Given the description of an element on the screen output the (x, y) to click on. 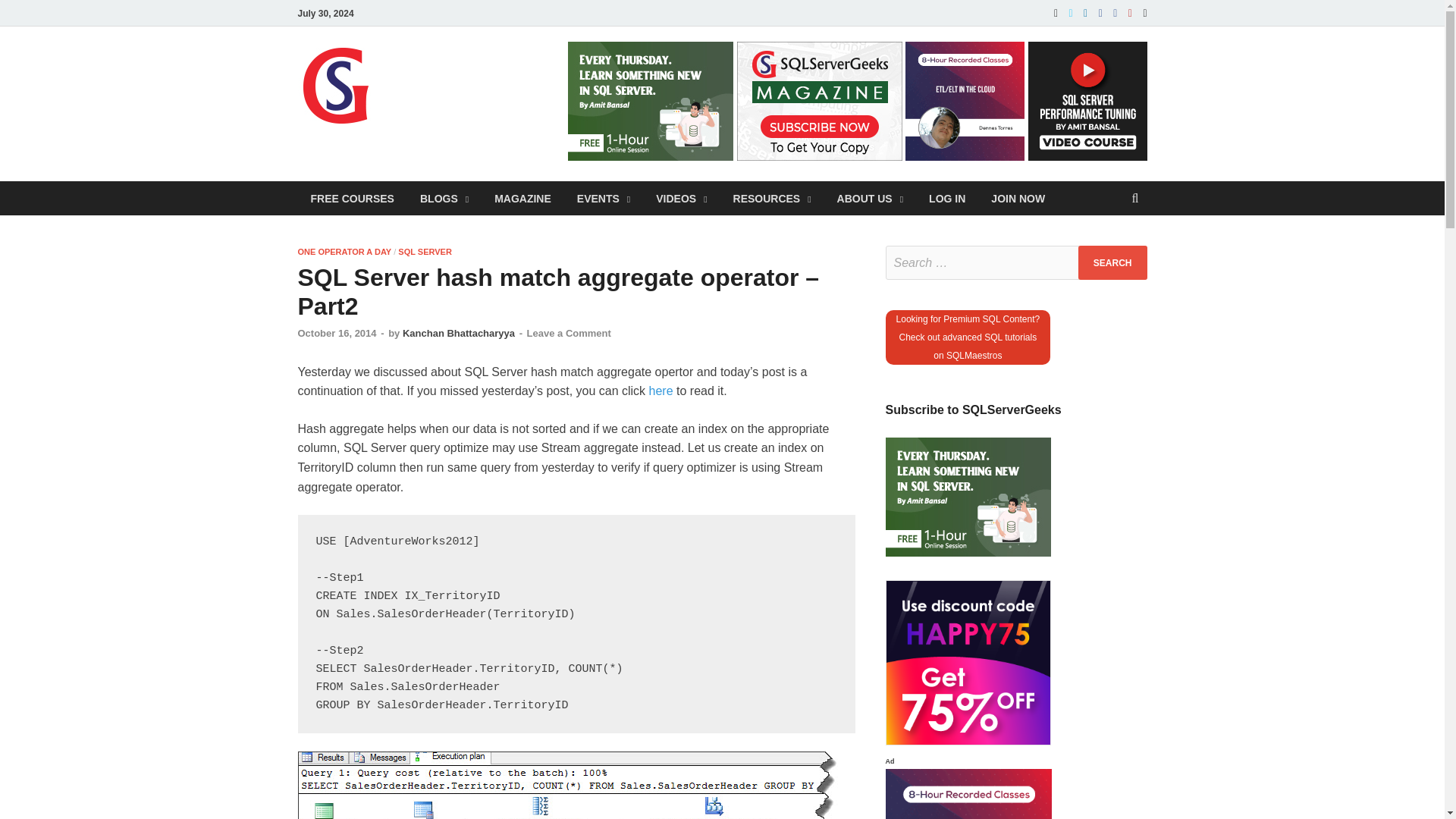
Search (1112, 262)
Search (1112, 262)
SQLServerGeeks (496, 78)
EVENTS (603, 197)
VIDEOS (681, 197)
RESOURCES (772, 197)
MAGAZINE (522, 197)
FREE COURSES (351, 197)
BLOGS (444, 197)
